Given the description of an element on the screen output the (x, y) to click on. 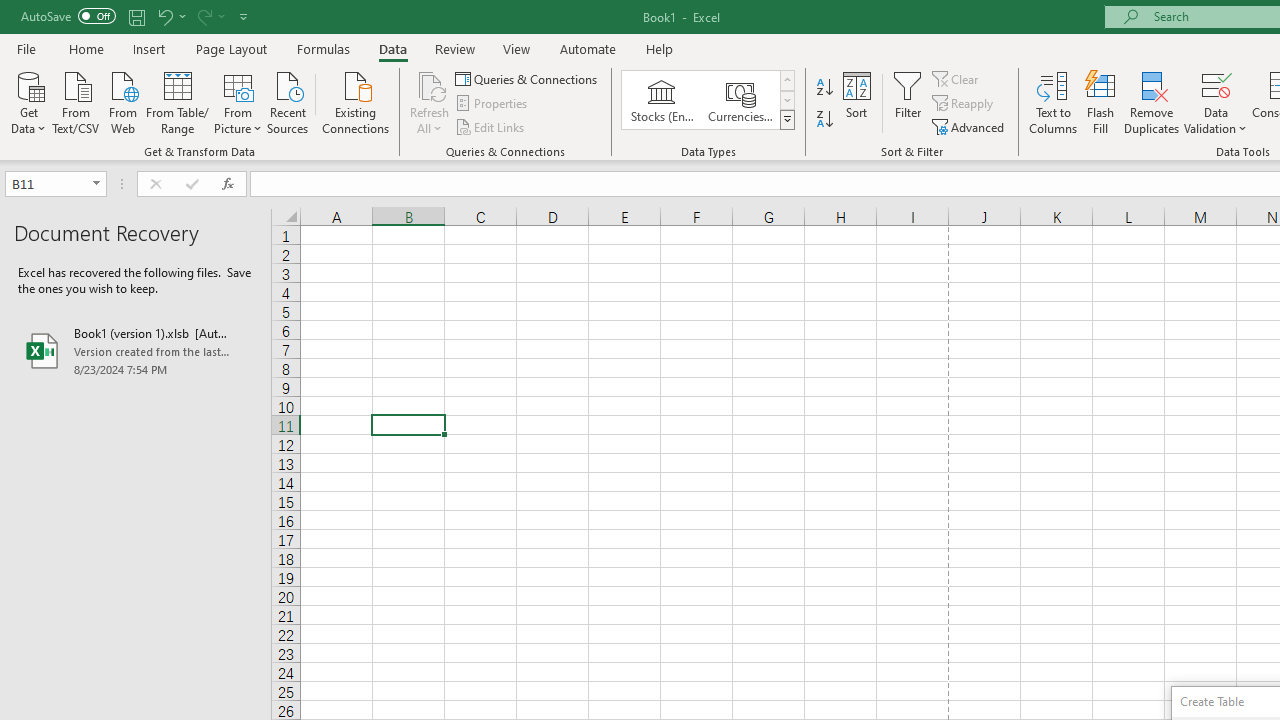
From Picture (238, 101)
Recent Sources (287, 101)
Currencies (English) (740, 100)
Class: NetUIImage (787, 119)
Book1 (version 1).xlsb  [AutoRecovered] (136, 350)
Sort A to Z (824, 87)
Flash Fill (1101, 102)
From Web (122, 101)
